Given the description of an element on the screen output the (x, y) to click on. 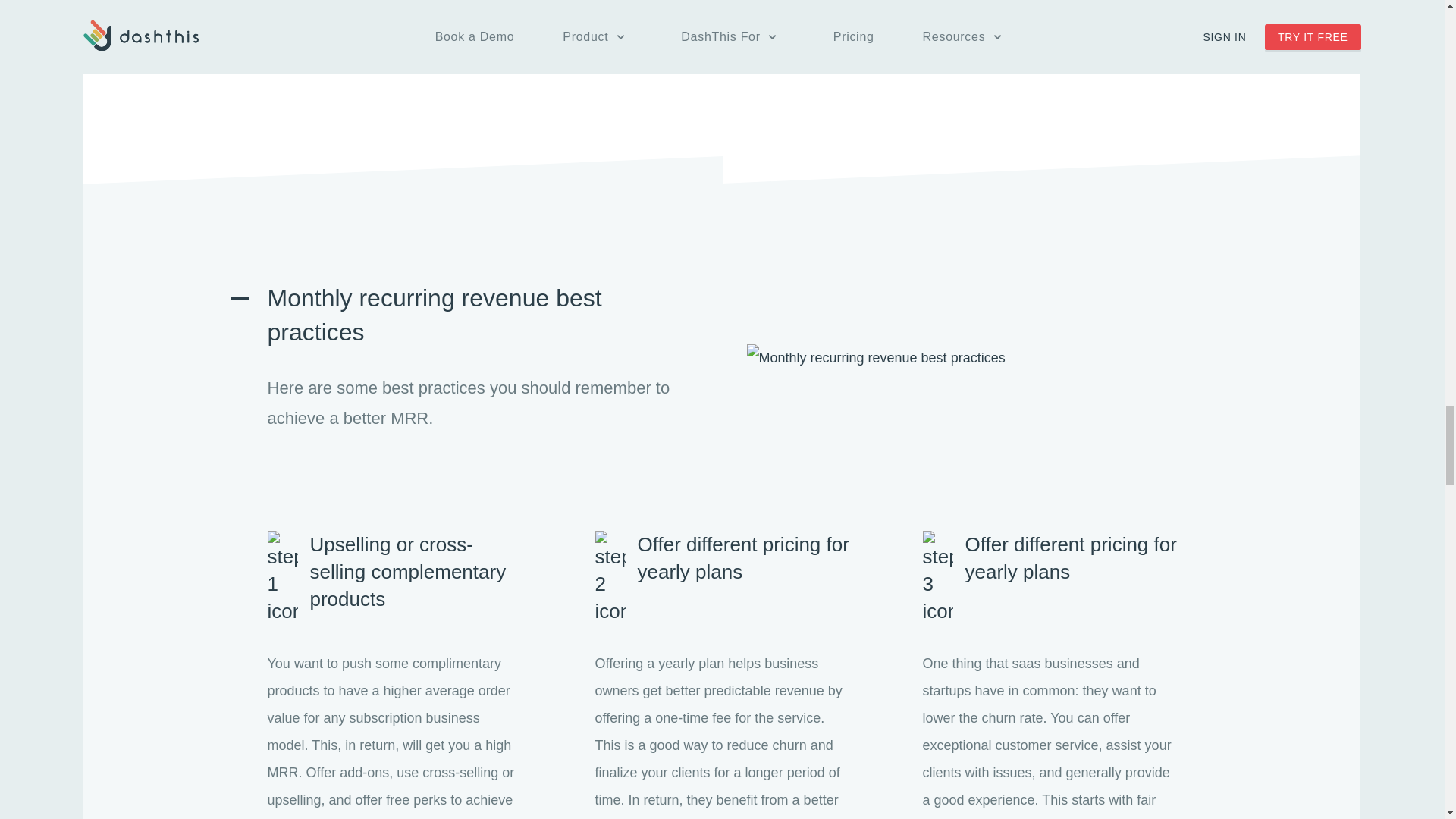
Try it free (722, 39)
